Given the description of an element on the screen output the (x, y) to click on. 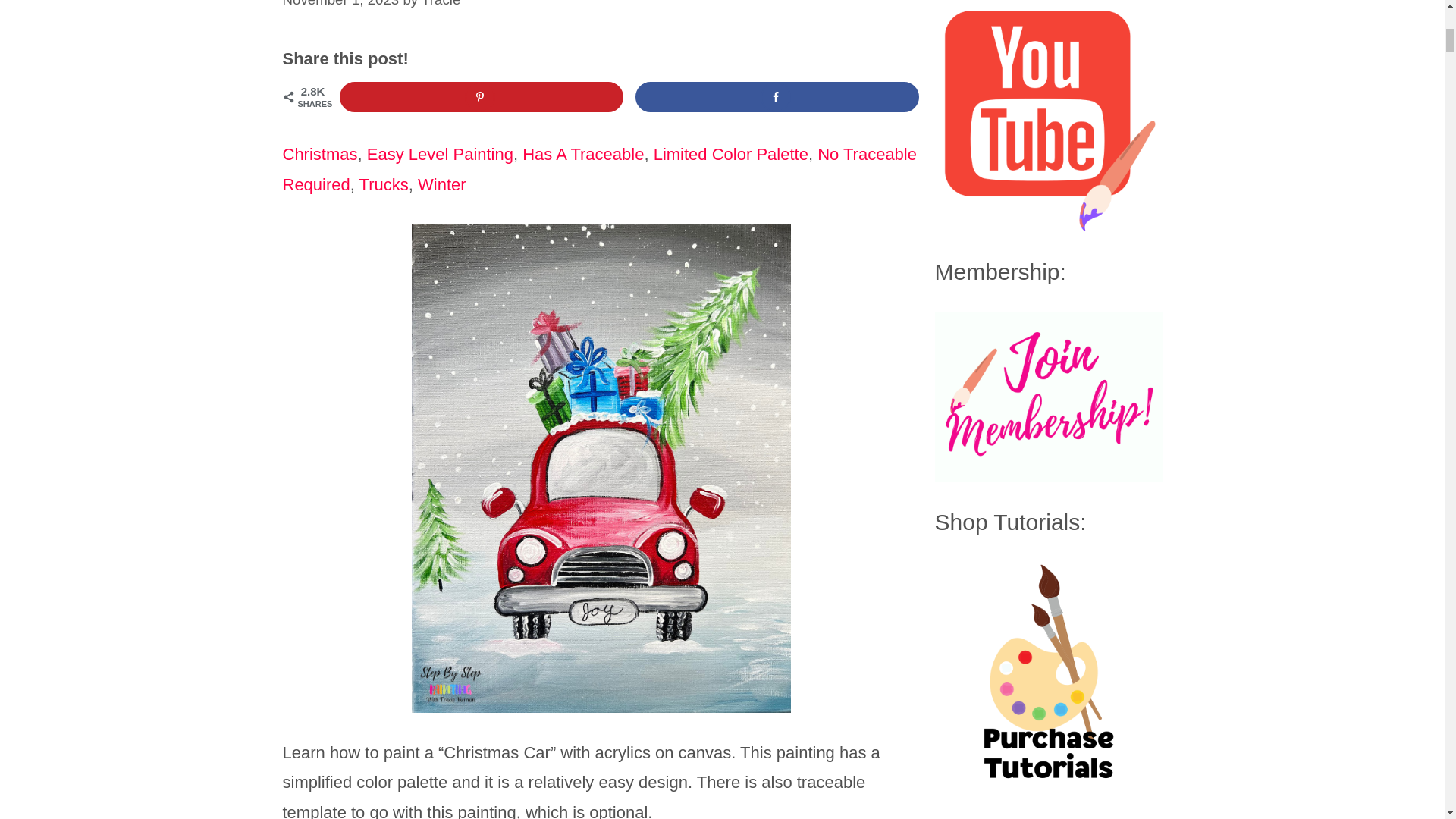
Save to Pinterest (481, 96)
View all posts by Tracie (441, 3)
Share on Facebook (777, 96)
